Given the description of an element on the screen output the (x, y) to click on. 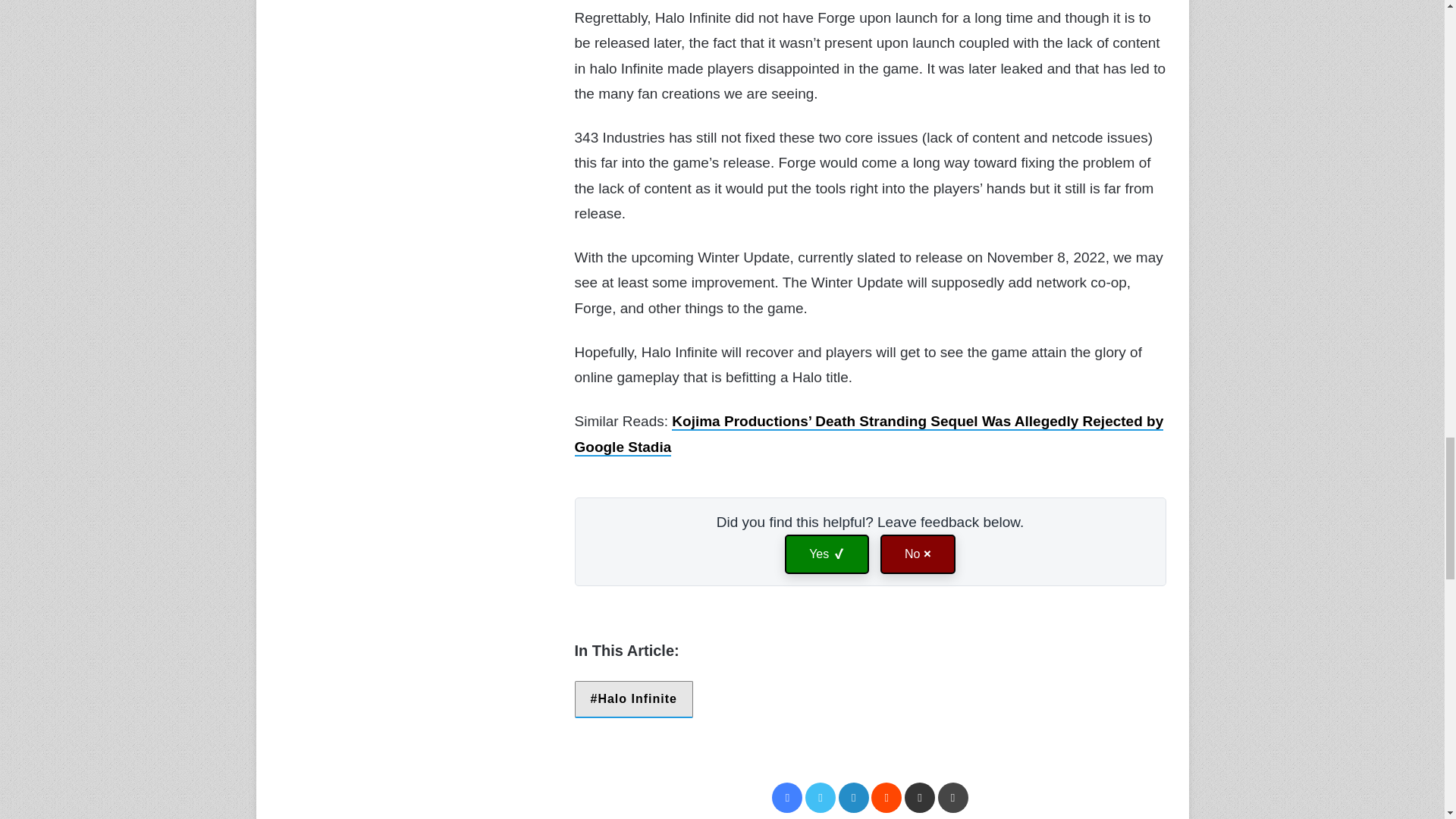
Twitter (820, 797)
LinkedIn (853, 797)
Share via Email (919, 797)
Print (952, 797)
Facebook (786, 797)
Reddit (885, 797)
